Given the description of an element on the screen output the (x, y) to click on. 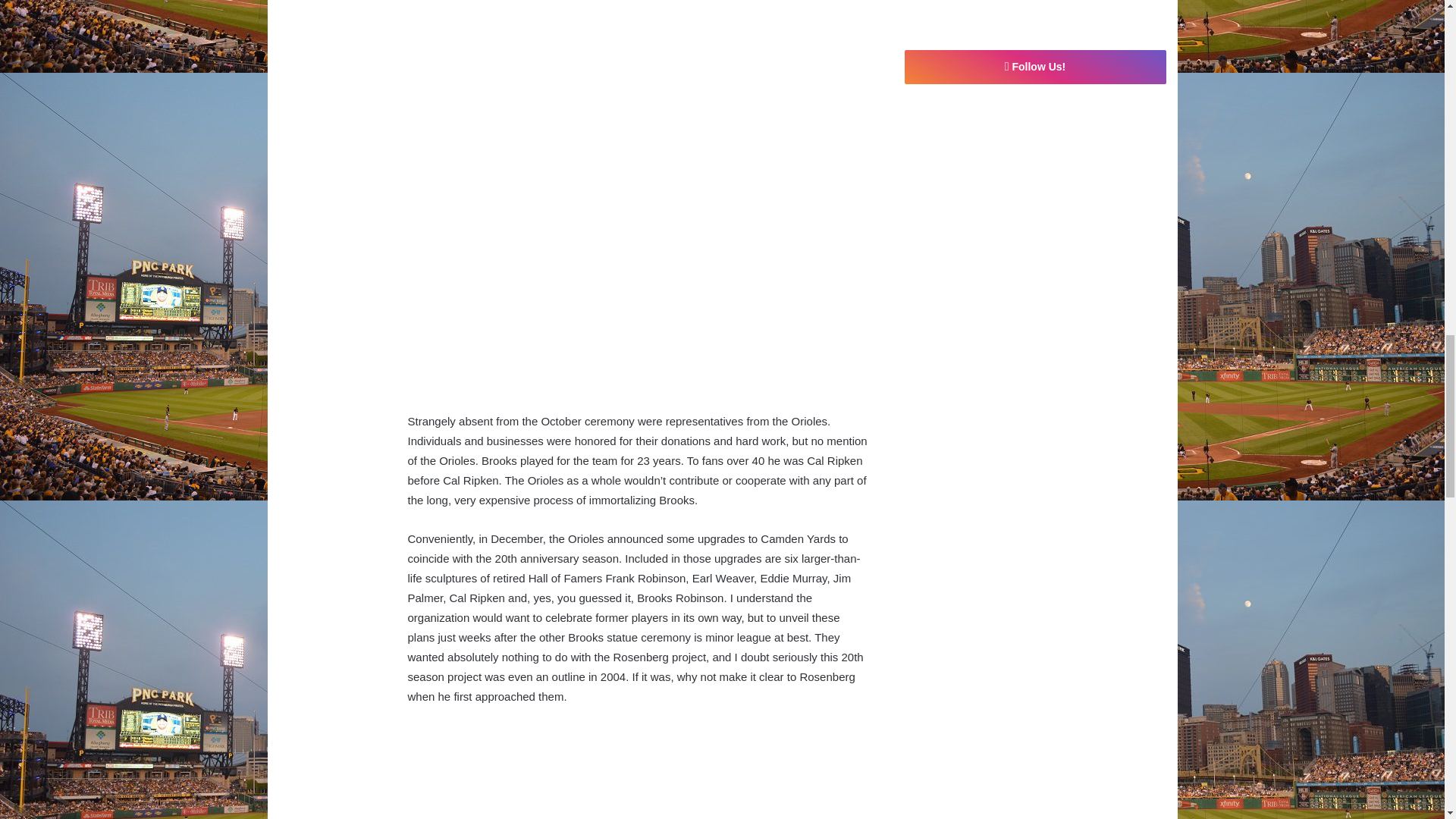
Advertisement (638, 772)
Advertisement (638, 305)
Advertisement (638, 99)
